Given the description of an element on the screen output the (x, y) to click on. 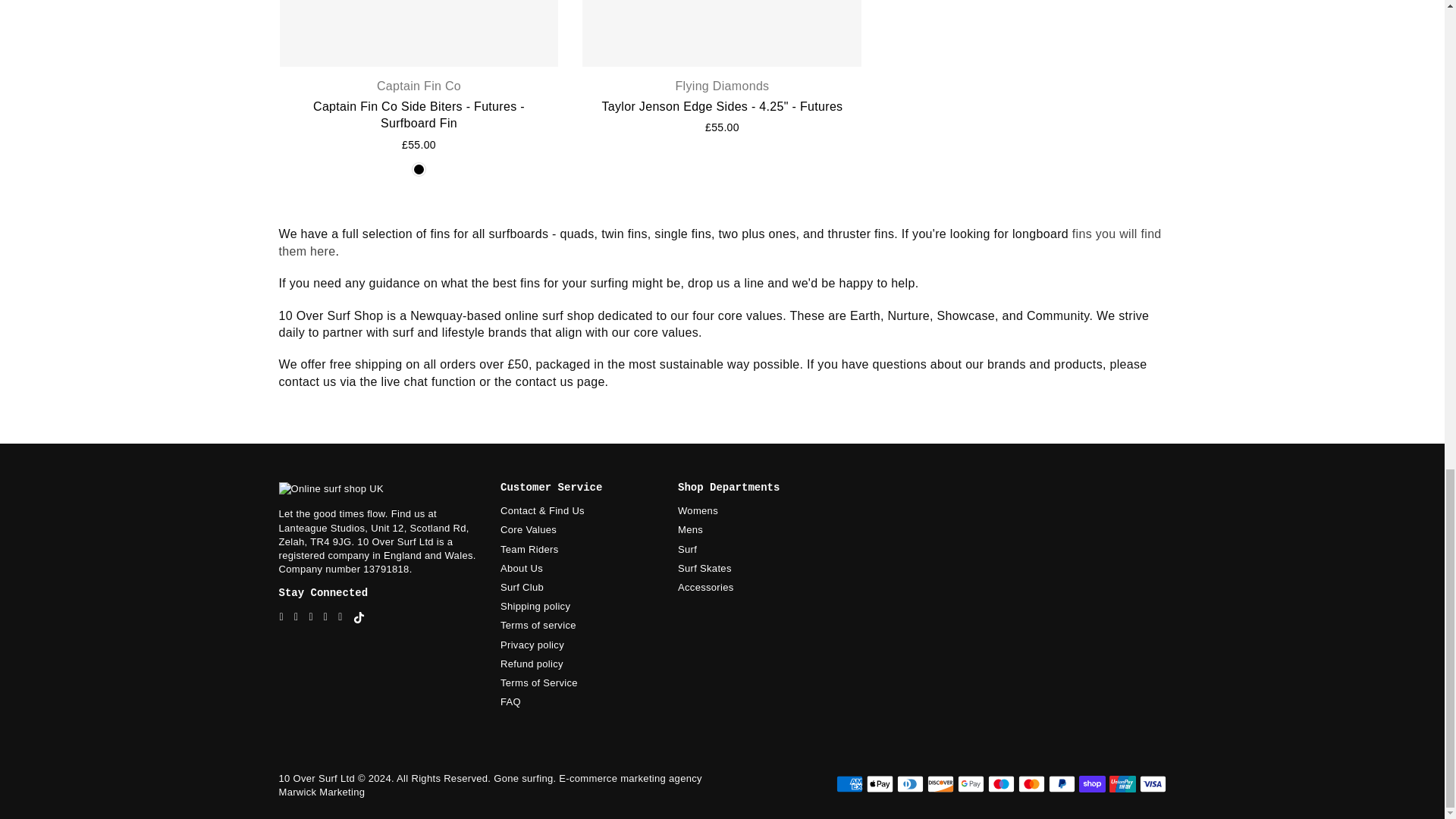
PayPal (1061, 783)
Google Pay (970, 783)
Apple Pay (879, 783)
Shop Pay (1091, 783)
Discover (939, 783)
Mastercard (1030, 783)
Visa (1152, 783)
Diners Club (909, 783)
Maestro (1000, 783)
American Express (848, 783)
